Given the description of an element on the screen output the (x, y) to click on. 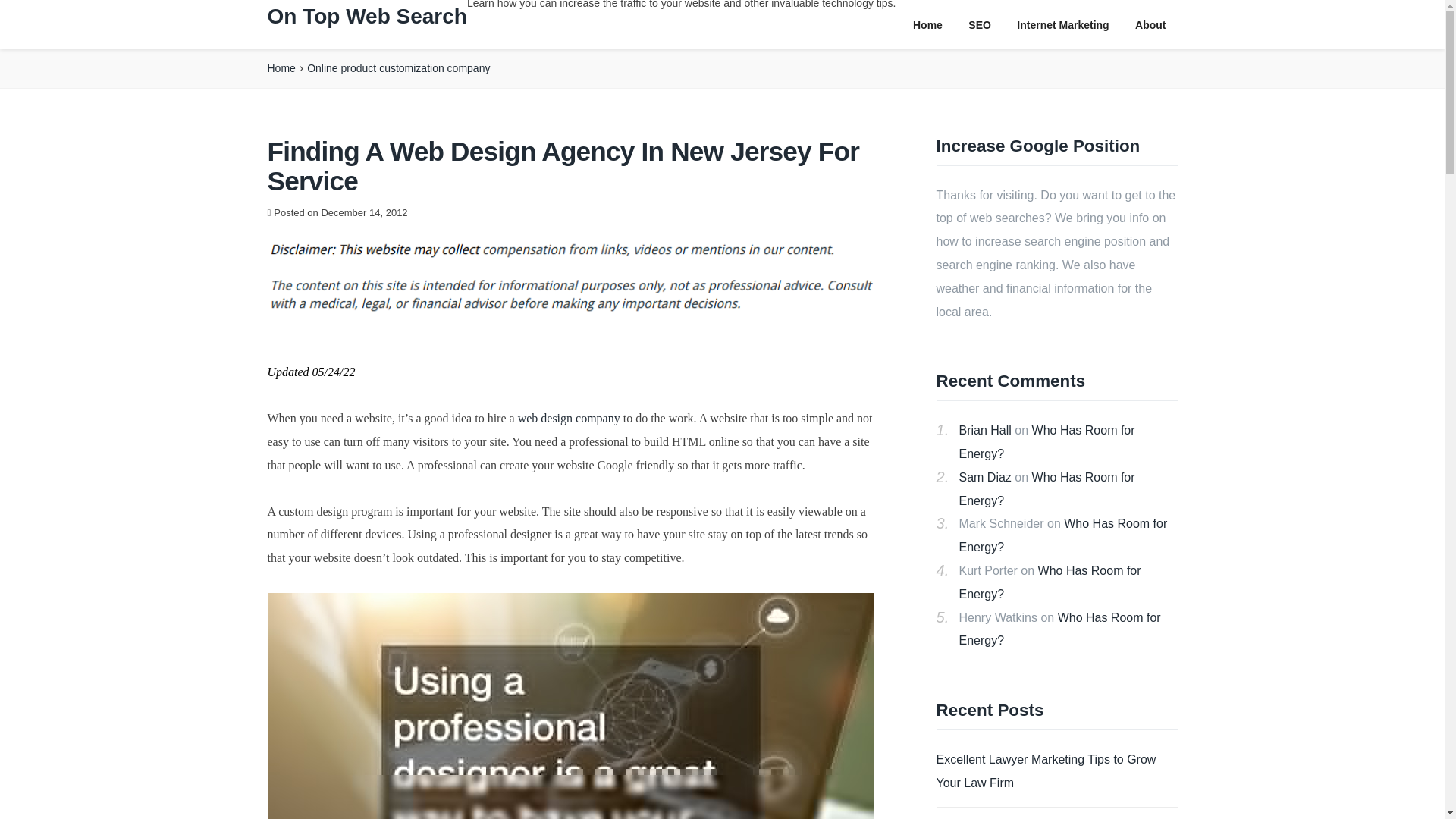
Excellent Lawyer Marketing Tips to Grow Your Law Firm (1046, 770)
About (1150, 25)
Online product customization company (398, 68)
On Top Web Search (365, 15)
Who Has Room for Energy? (1046, 488)
Who Has Room for Energy? (1059, 628)
SEO (979, 25)
Who Has Room for Energy? (1062, 534)
web design company (569, 418)
Home (927, 25)
Who Has Room for Energy? (1046, 442)
Sam Diaz (984, 477)
Brian Hall (984, 430)
Who Has Room for Energy? (1049, 582)
Home (280, 68)
